Given the description of an element on the screen output the (x, y) to click on. 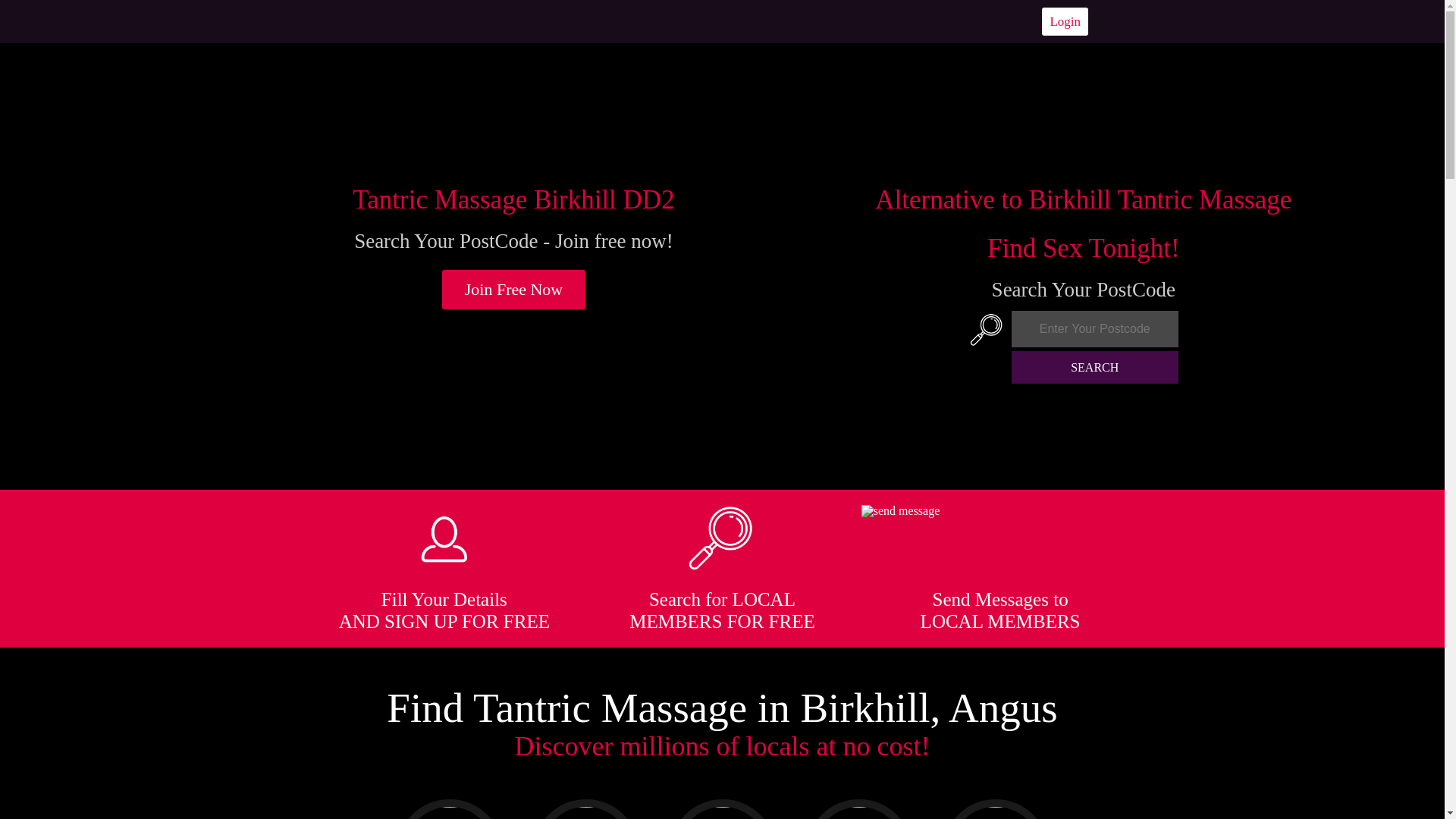
SEARCH (1094, 367)
Join (514, 289)
Login (1064, 21)
Login (1064, 21)
Join Free Now (514, 289)
